Given the description of an element on the screen output the (x, y) to click on. 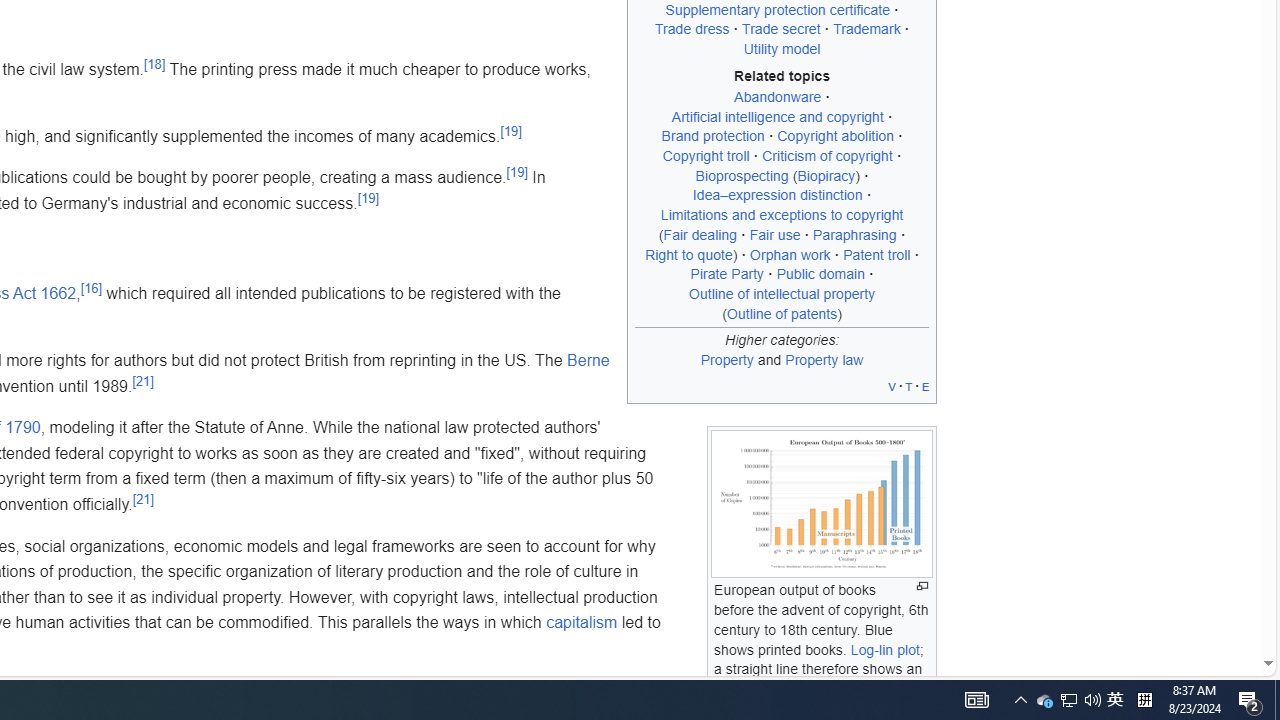
Related topics (781, 75)
Class: mw-file-description (821, 503)
Patent troll (877, 254)
Trademark (867, 29)
Public domain (820, 273)
Limitations and exceptions to copyright (781, 215)
e (925, 385)
capitalism (582, 623)
